Given the description of an element on the screen output the (x, y) to click on. 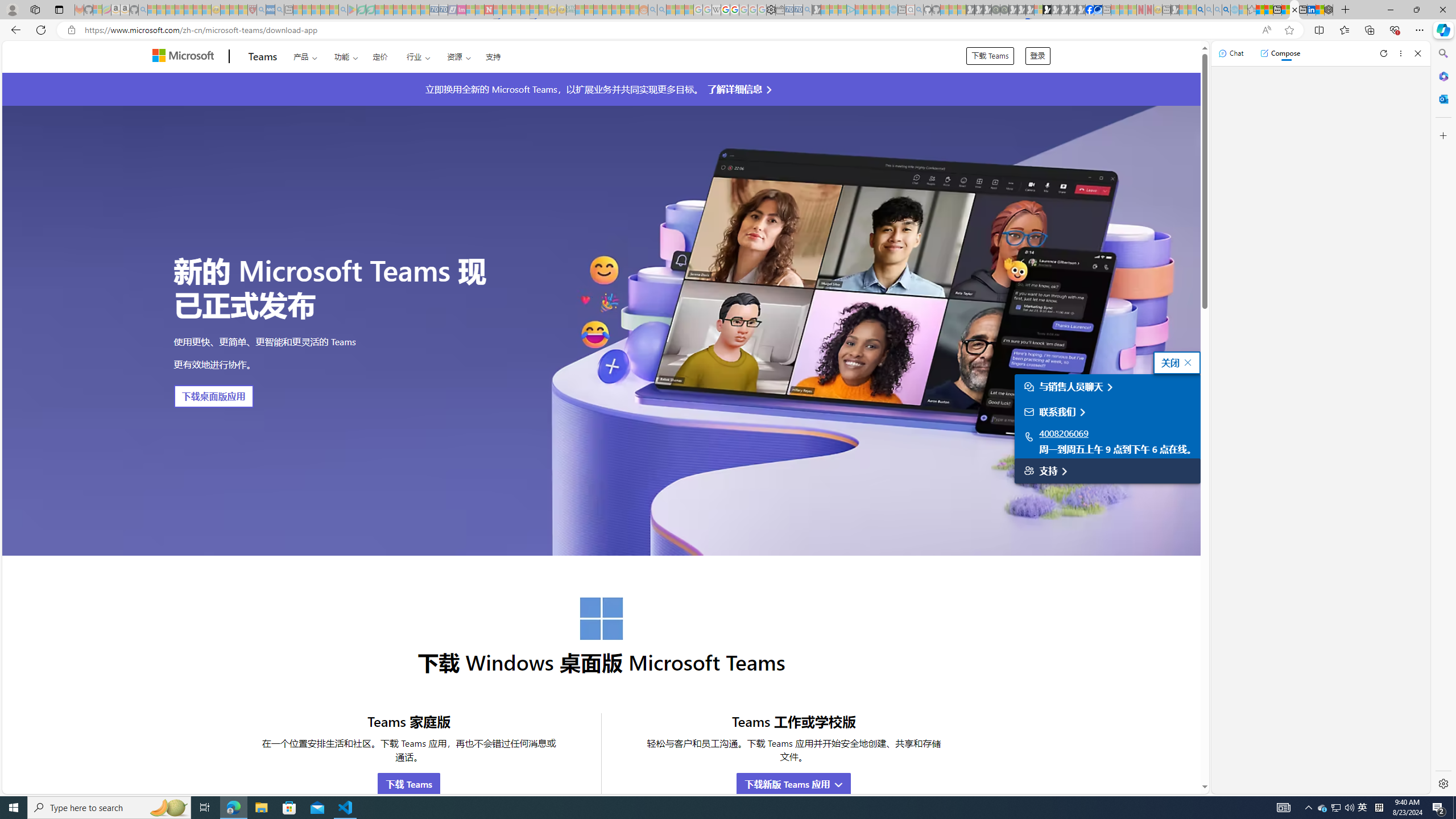
AQI & Health | AirNow.gov (1098, 9)
